Given the description of an element on the screen output the (x, y) to click on. 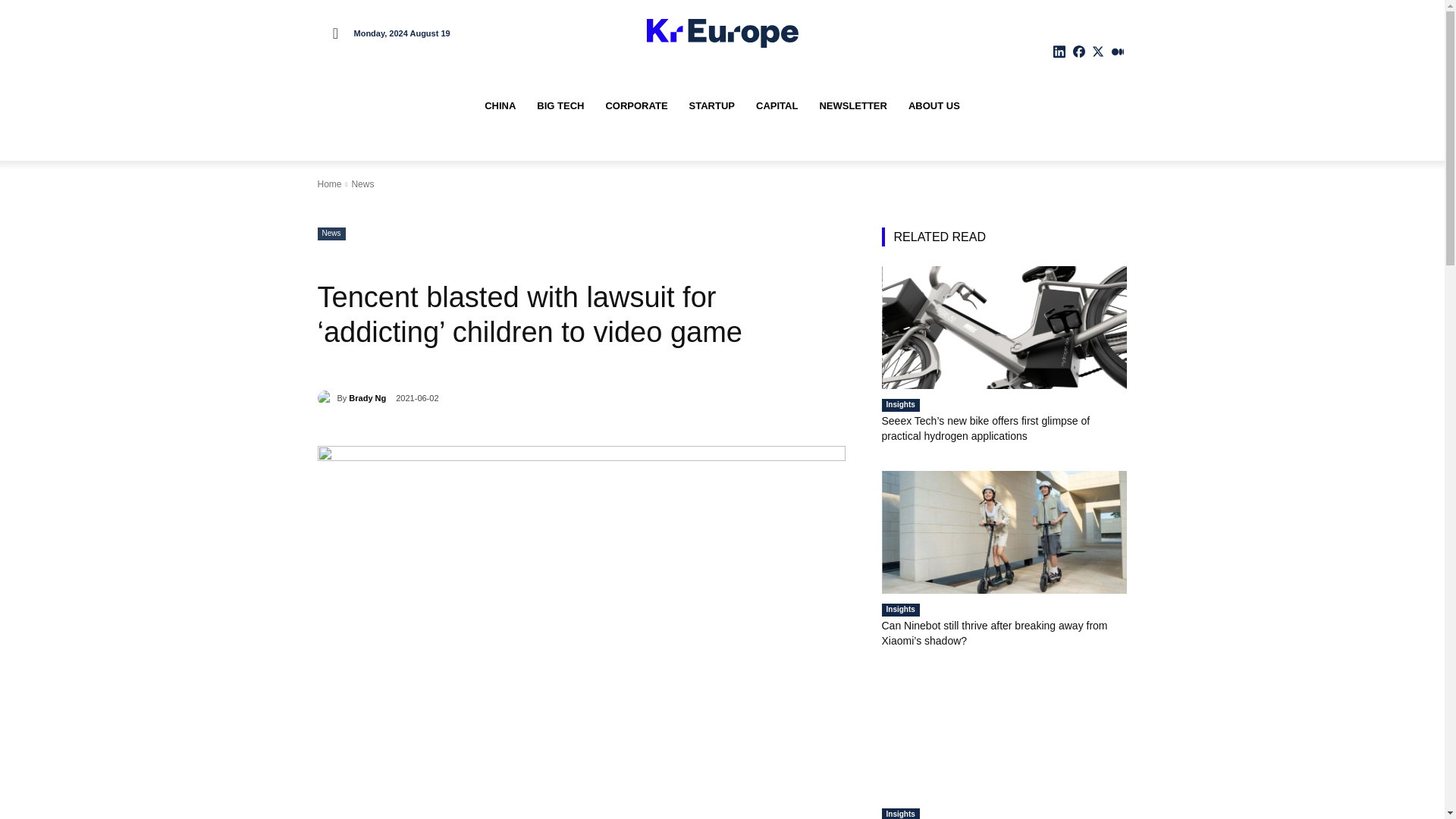
BIG TECH (559, 105)
Brady Ng (367, 397)
View all posts in News (362, 184)
CORPORATE (636, 105)
CHINA (499, 105)
STARTUP (711, 105)
News (331, 233)
NEWSLETTER (853, 105)
ABOUT US (934, 105)
